Given the description of an element on the screen output the (x, y) to click on. 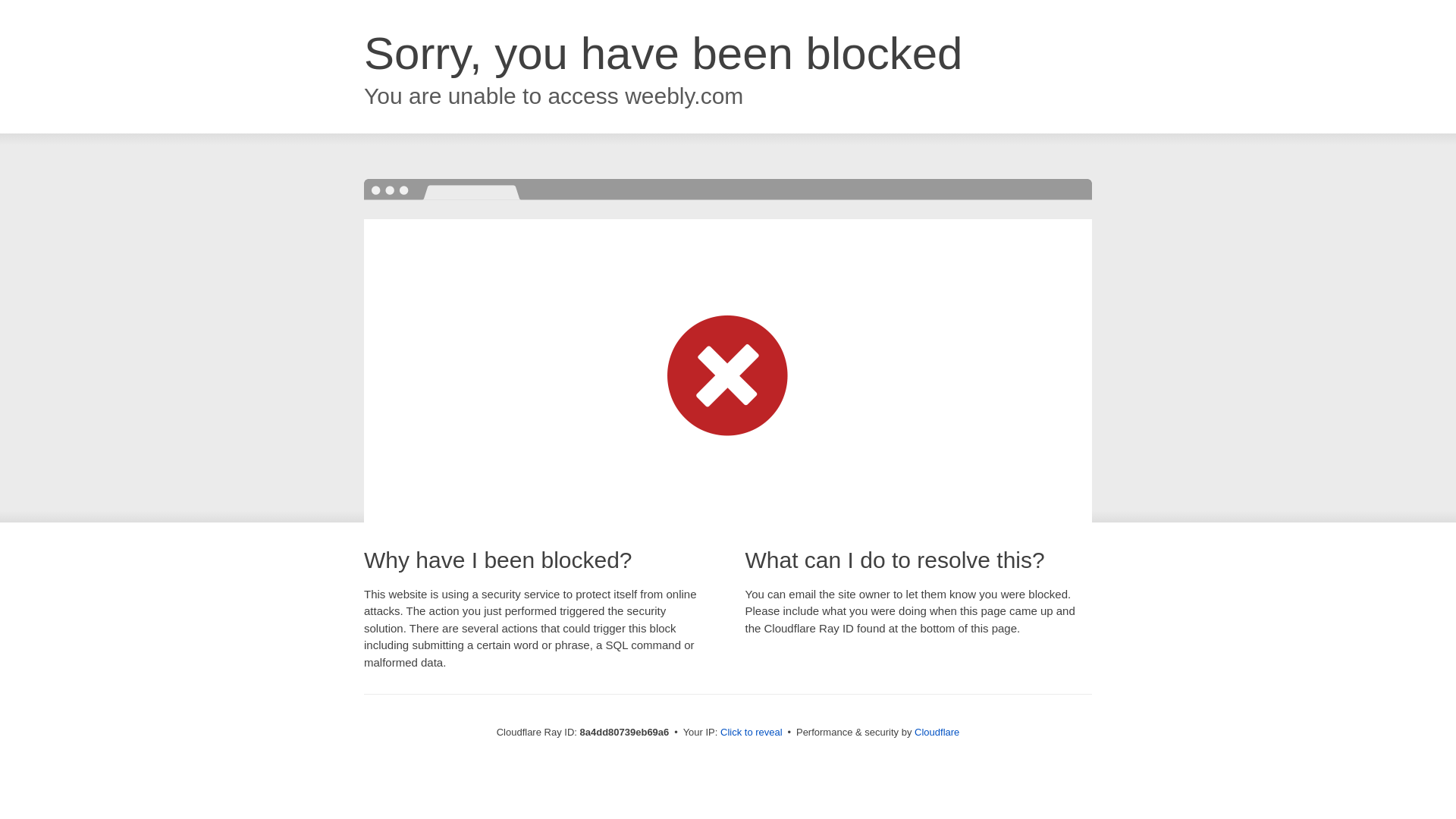
Cloudflare (936, 731)
Click to reveal (751, 732)
